Given the description of an element on the screen output the (x, y) to click on. 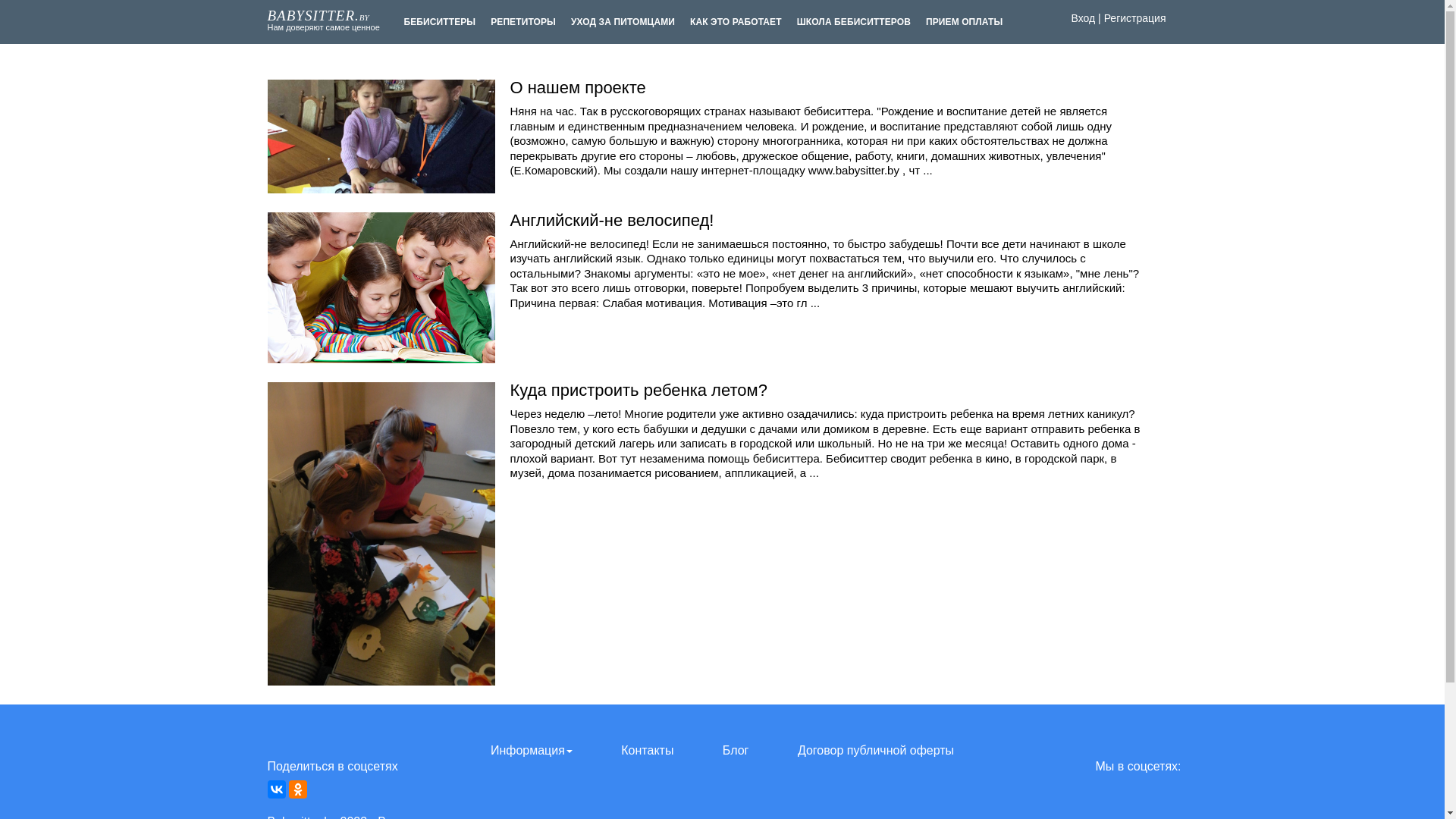
... Element type: text (815, 302)
... Element type: text (927, 169)
... Element type: text (814, 472)
